Given the description of an element on the screen output the (x, y) to click on. 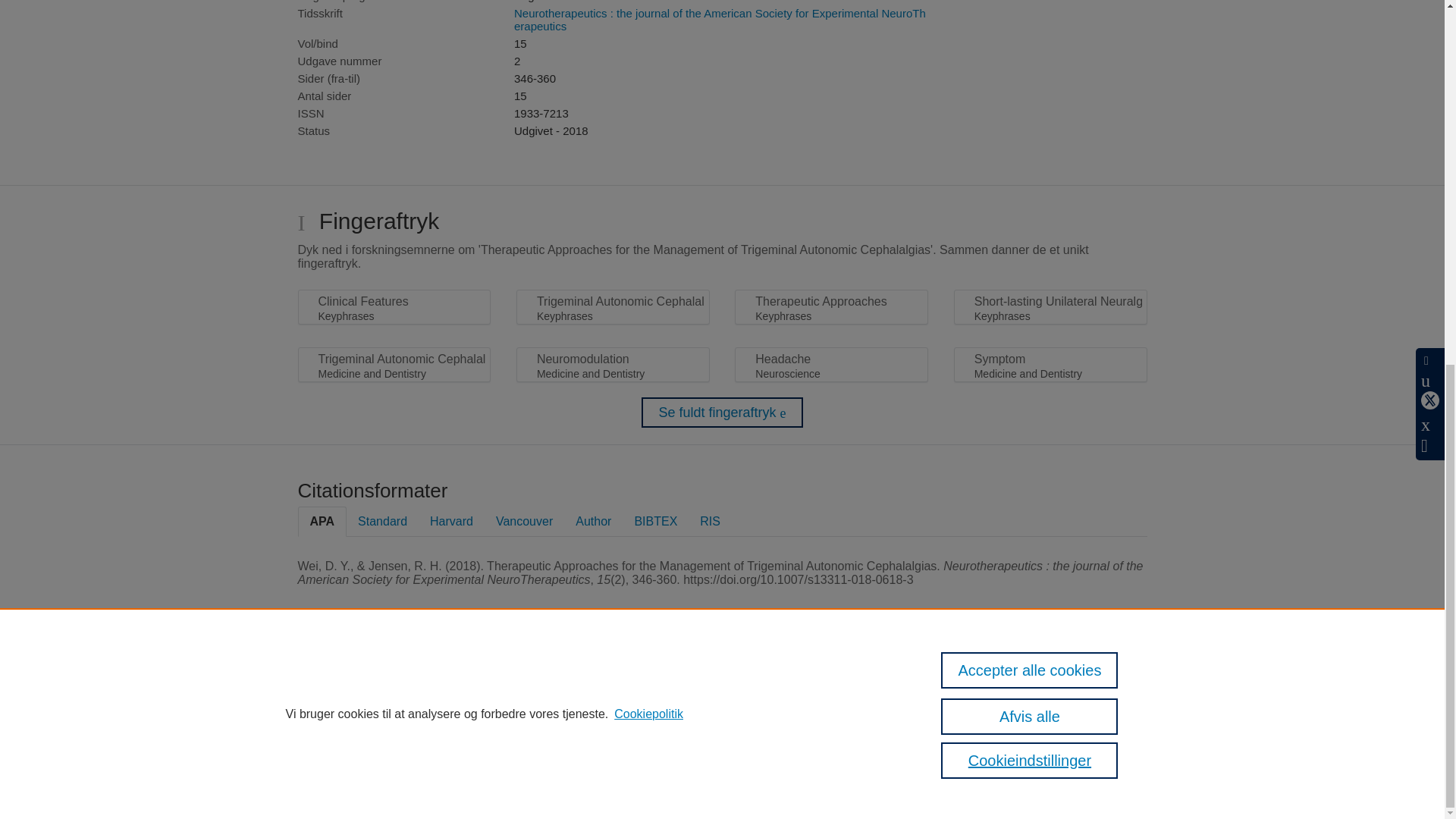
brug af cookies (729, 754)
Elsevier B.V. (673, 706)
Scopus (522, 685)
Pure (490, 685)
Se fuldt fingeraftryk (722, 412)
